Given the description of an element on the screen output the (x, y) to click on. 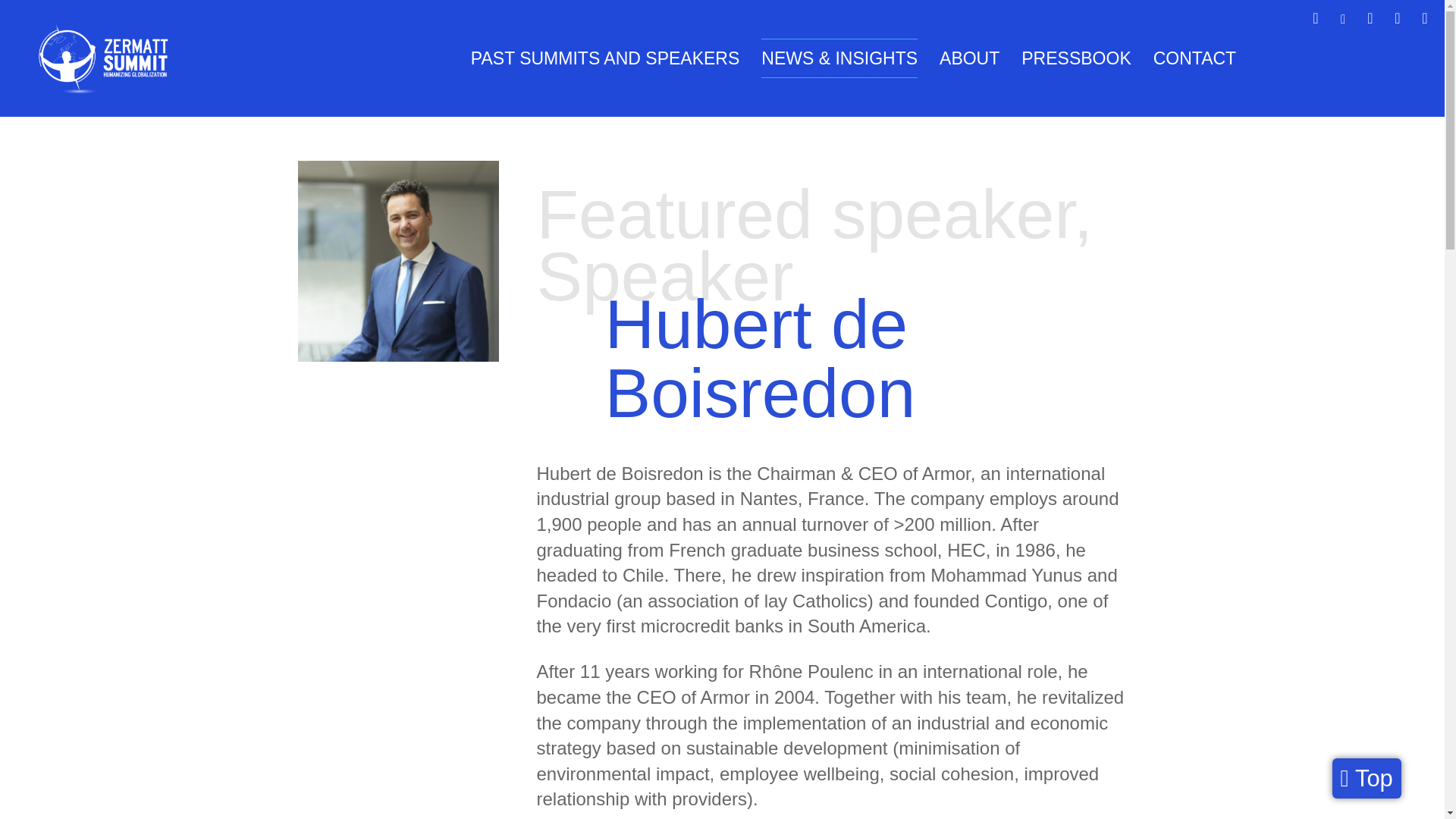
PAST SUMMITS AND SPEAKERS (604, 57)
CONTACT (1194, 57)
ABOUT (968, 57)
PRESSBOOK (1076, 57)
